Given the description of an element on the screen output the (x, y) to click on. 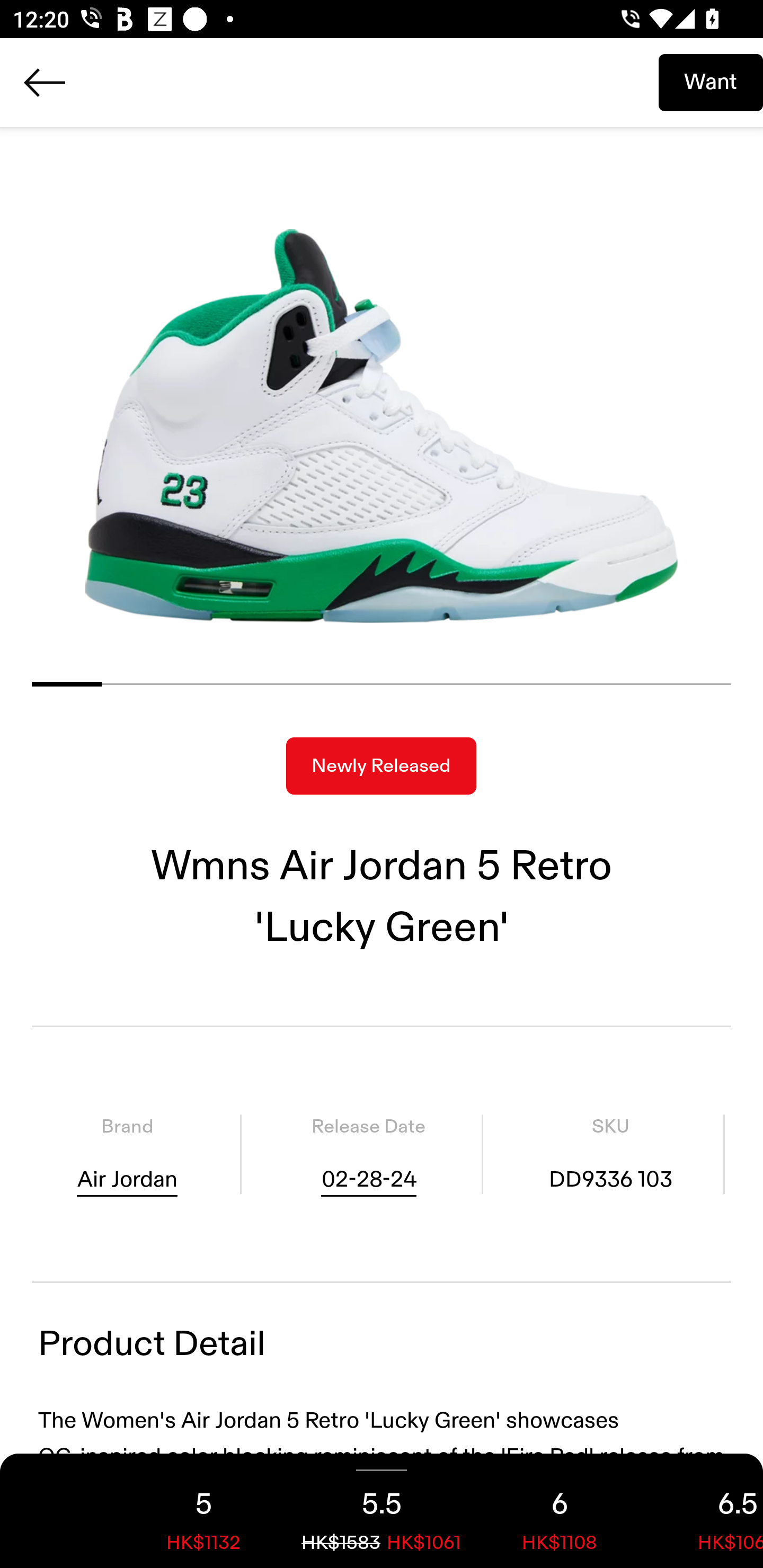
Want (710, 82)
Newly Released (381, 765)
Brand Air Jordan (126, 1153)
Release Date 02-28-24 (368, 1153)
SKU DD9336 103 (609, 1153)
5 HK$1132 (203, 1510)
5.5 HK$1583 HK$1061 (381, 1510)
6 HK$1108 (559, 1510)
6.5 HK$1068 (705, 1510)
